Given the description of an element on the screen output the (x, y) to click on. 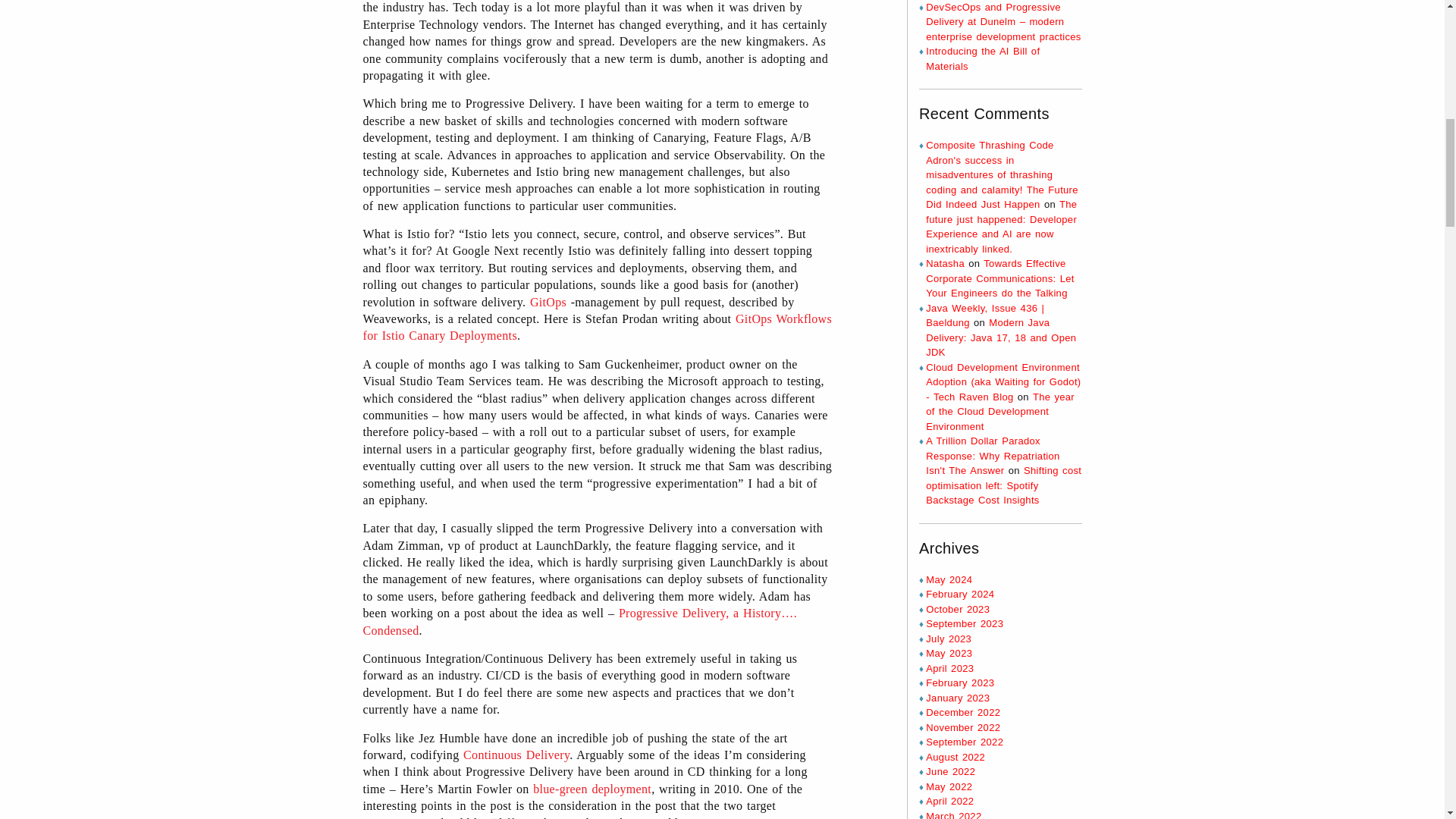
GitOps Workflows for Istio Canary Deployments (596, 327)
blue-green deployment (591, 788)
GitOps (547, 301)
Continuous Delivery (516, 754)
